Given the description of an element on the screen output the (x, y) to click on. 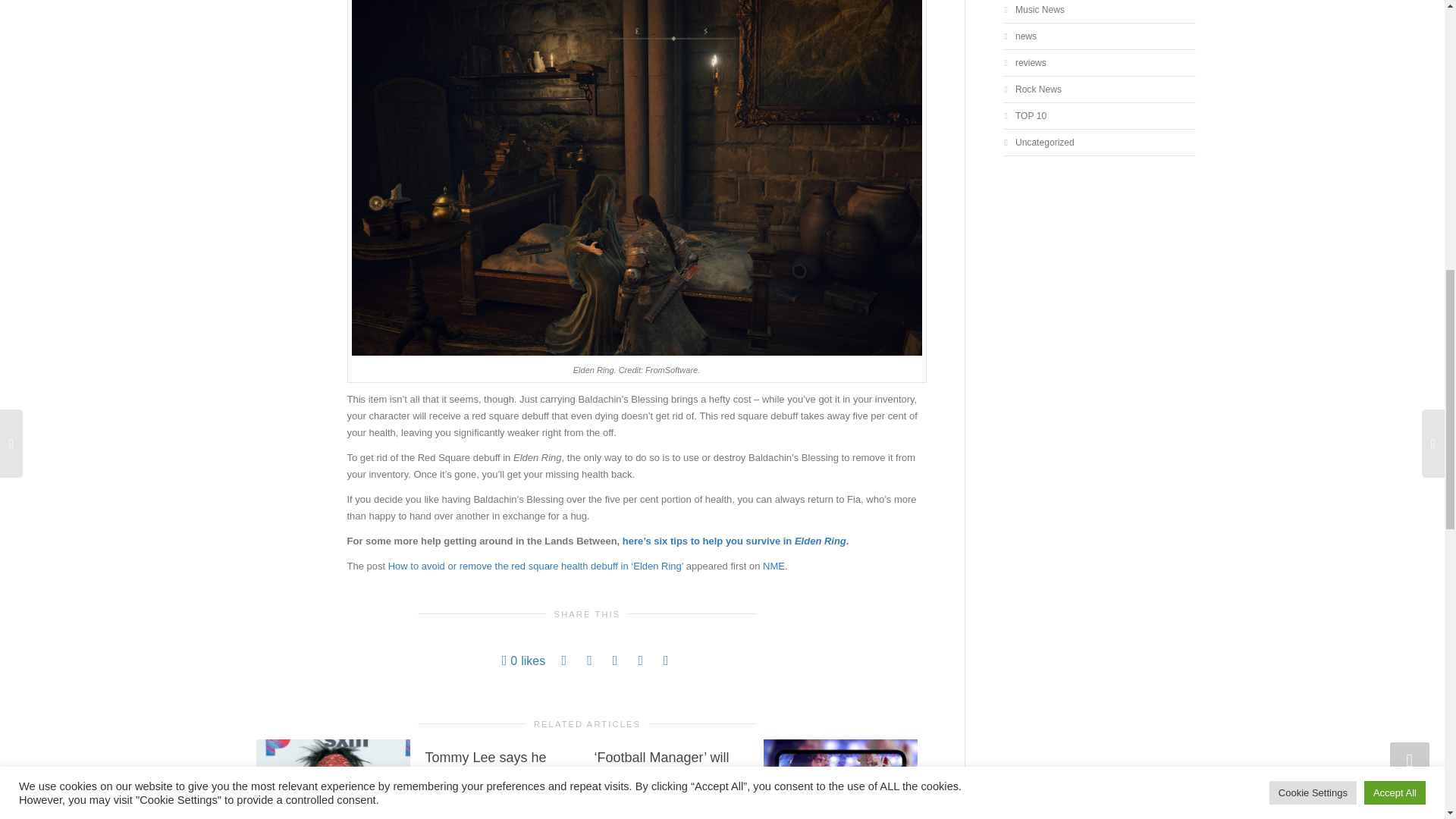
NME (773, 565)
0 likes (524, 660)
Like this (524, 660)
